Given the description of an element on the screen output the (x, y) to click on. 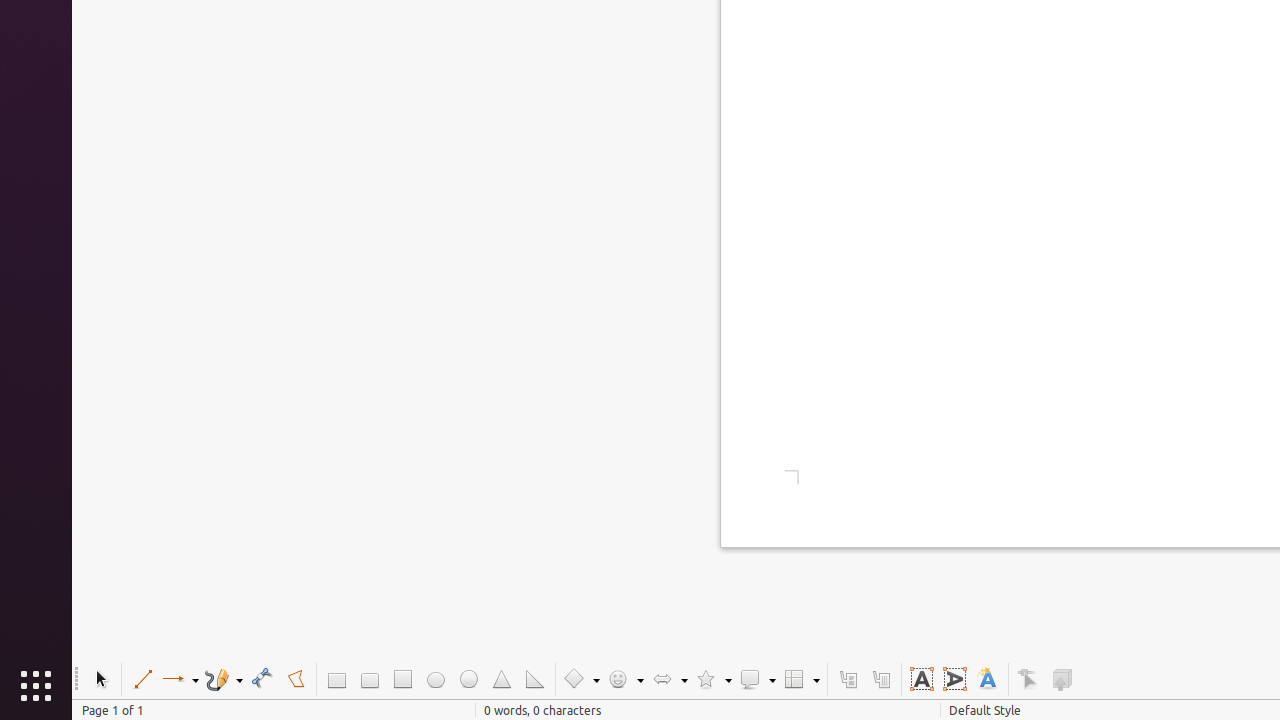
Callouts Element type: push-button (847, 679)
Star Shapes Element type: push-button (713, 679)
Text Box Element type: push-button (921, 679)
Basic Shapes Element type: push-button (581, 679)
Rectangle Element type: push-button (336, 679)
